Given the description of an element on the screen output the (x, y) to click on. 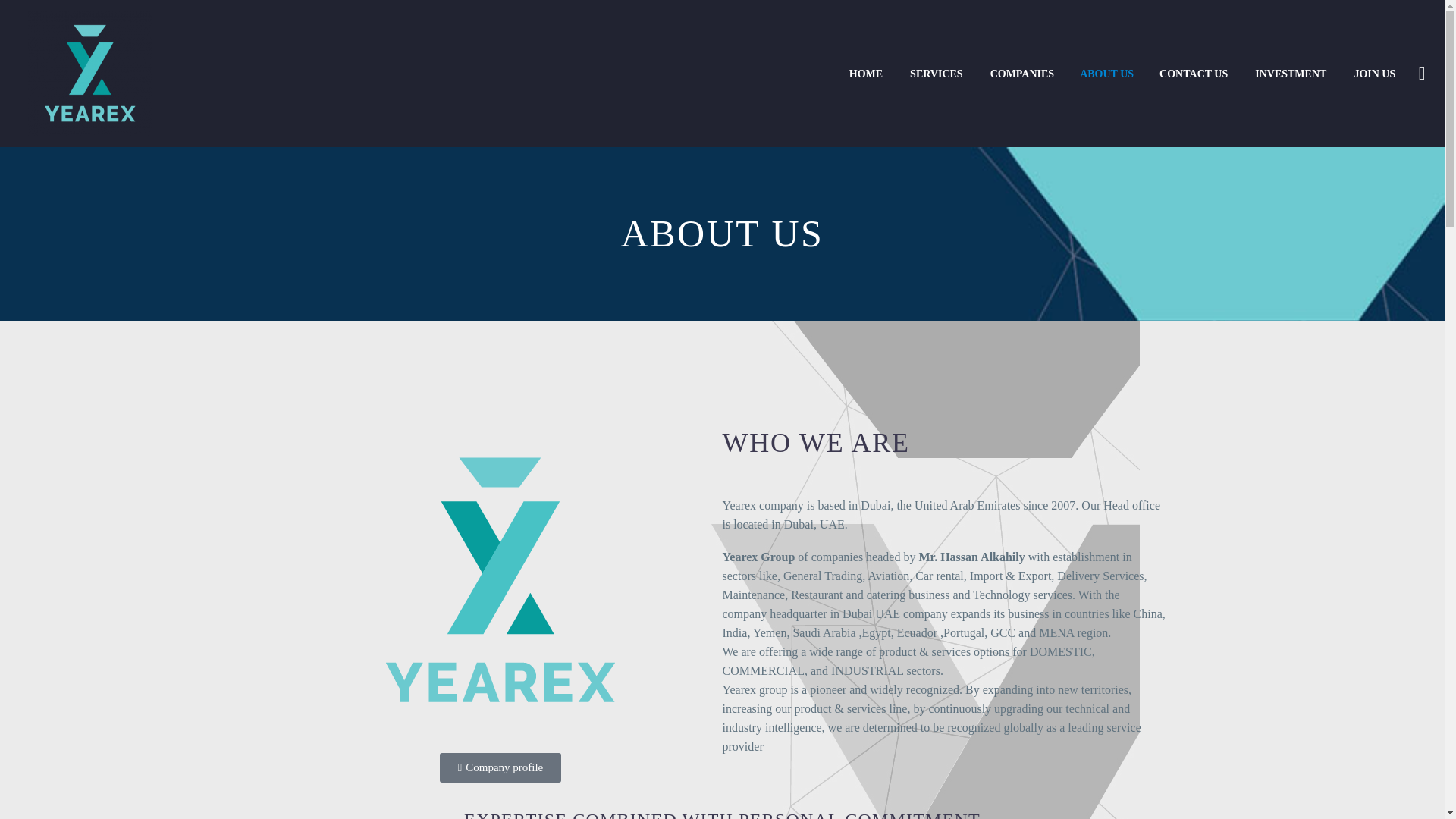
SERVICES (936, 72)
INVESTMENT (1290, 72)
HOME (865, 72)
Company profile (500, 767)
ABOUT US (1106, 72)
COMPANIES (1021, 72)
CONTACT US (1193, 72)
JOIN US (1374, 72)
